Given the description of an element on the screen output the (x, y) to click on. 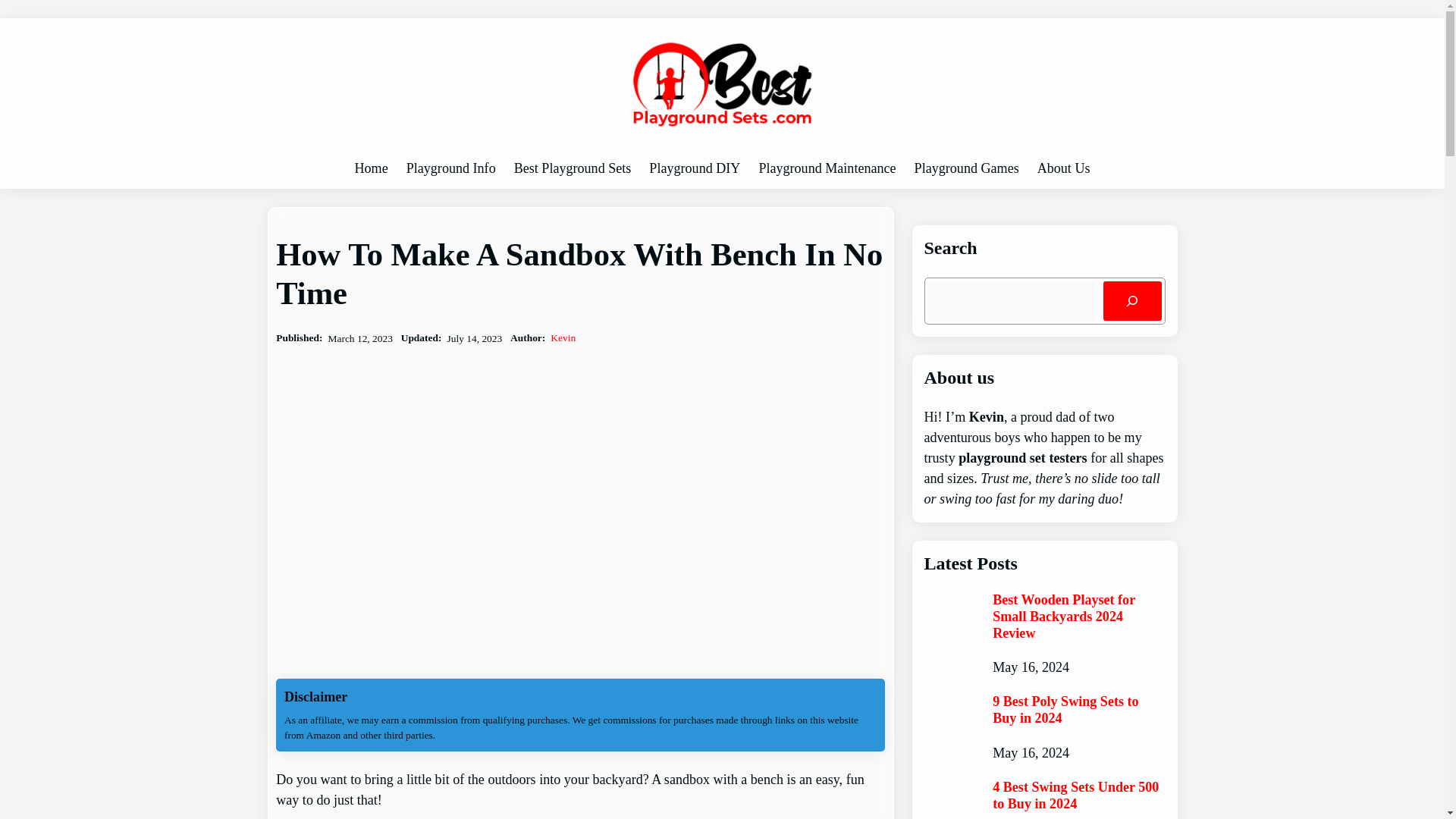
Playground Maintenance (826, 168)
Playground Info (451, 168)
Playground Games (966, 168)
Home (371, 168)
Playground DIY (694, 168)
4 Best Swing Sets Under 500 to Buy in 2024 (1078, 795)
Kevin (562, 337)
9 Best Poly Swing Sets to Buy in 2024 (1078, 709)
About Us (1063, 168)
Best Playground Sets (572, 168)
Best Wooden Playset for Small Backyards 2024 Review (1078, 616)
